Given the description of an element on the screen output the (x, y) to click on. 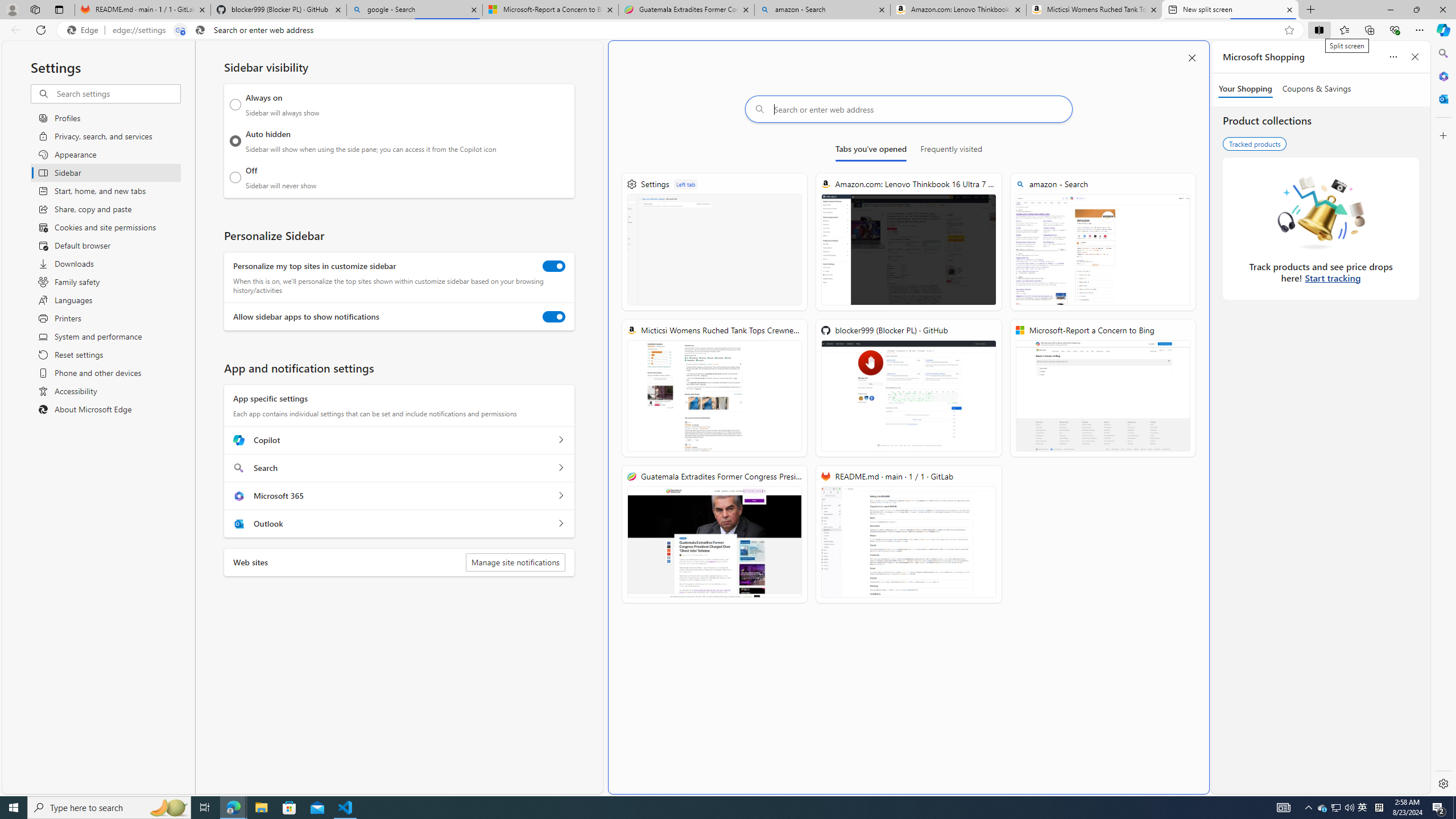
Search icon (200, 29)
Customize (1442, 135)
Favorites (1344, 29)
App bar (728, 29)
Settings (1442, 783)
Add this page to favorites (Ctrl+D) (1289, 29)
Search settings (117, 93)
Side bar (1443, 418)
Search or enter web address (909, 108)
Off Sidebar will never show (235, 177)
